Given the description of an element on the screen output the (x, y) to click on. 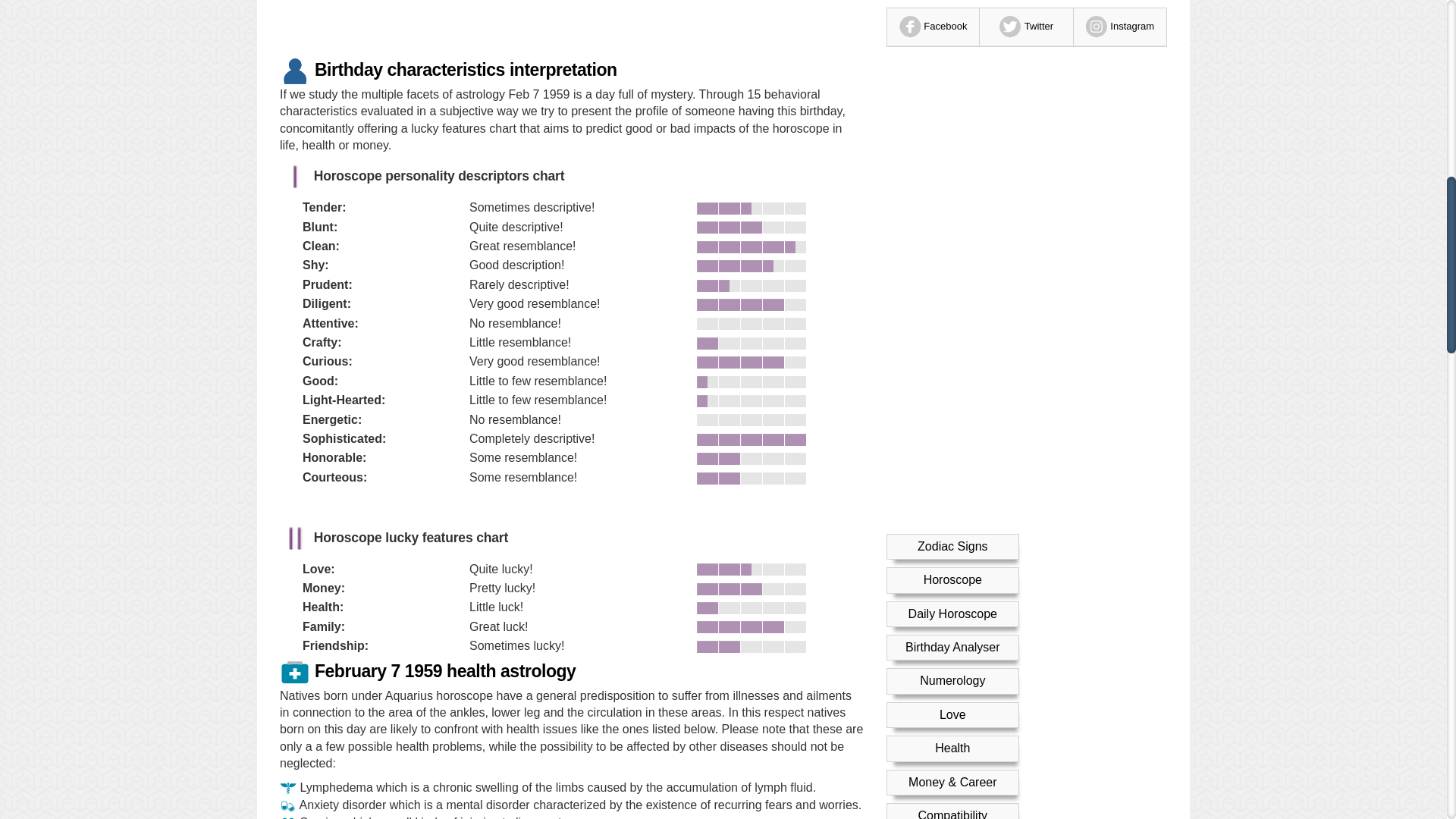
4 Elements (952, 141)
Birthdays (952, 107)
Astrology (952, 73)
Compatibility (952, 40)
Advertisement (571, 25)
